Given the description of an element on the screen output the (x, y) to click on. 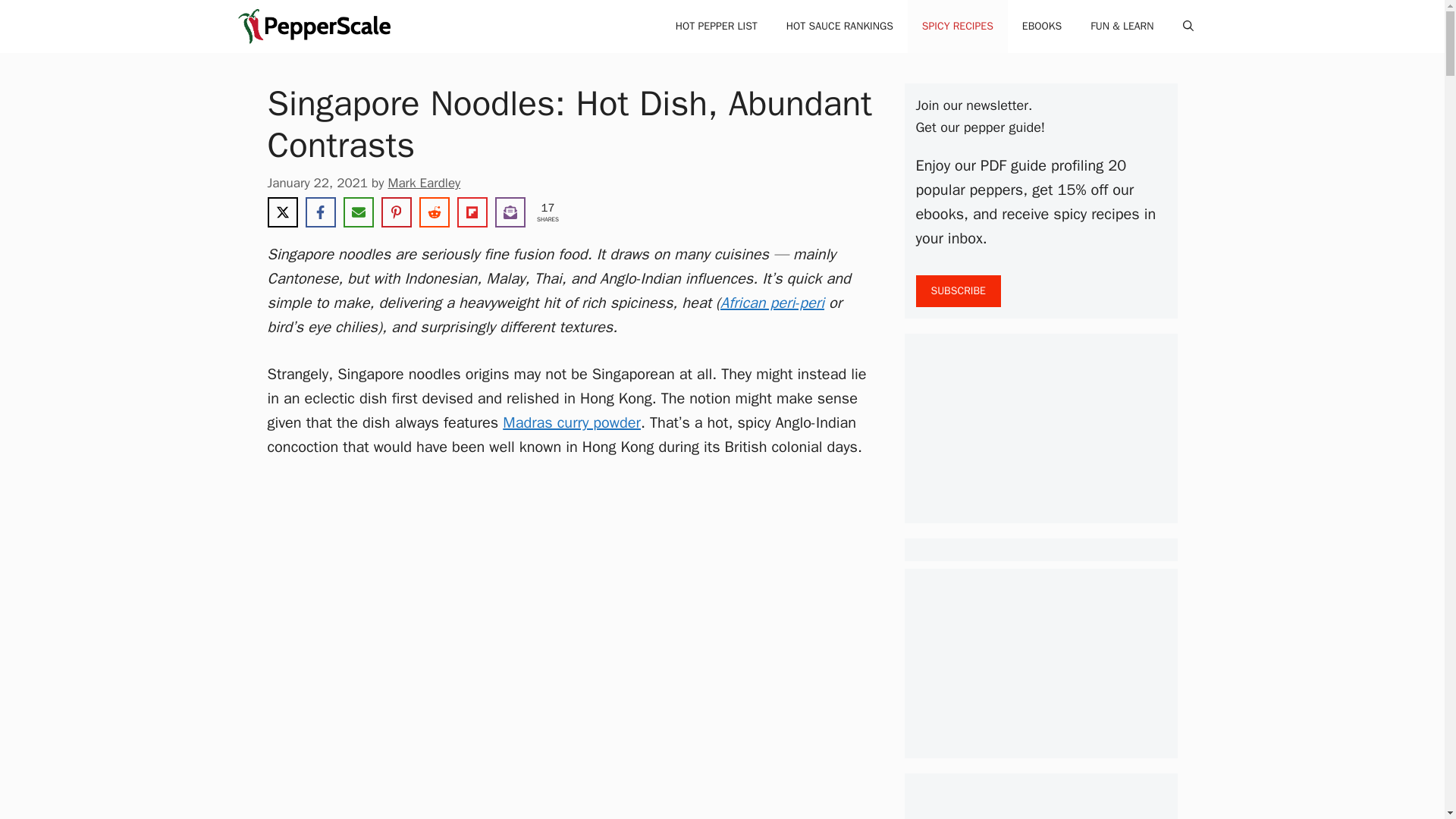
Madras curry powder (571, 422)
HOT SAUCE RANKINGS (839, 26)
Mark Eardley (423, 182)
HOT PEPPER LIST (716, 26)
EBOOKS (1041, 26)
PepperScale (318, 26)
African peri-peri (772, 302)
SPICY RECIPES (957, 26)
View all posts by Mark Eardley (423, 182)
